Given the description of an element on the screen output the (x, y) to click on. 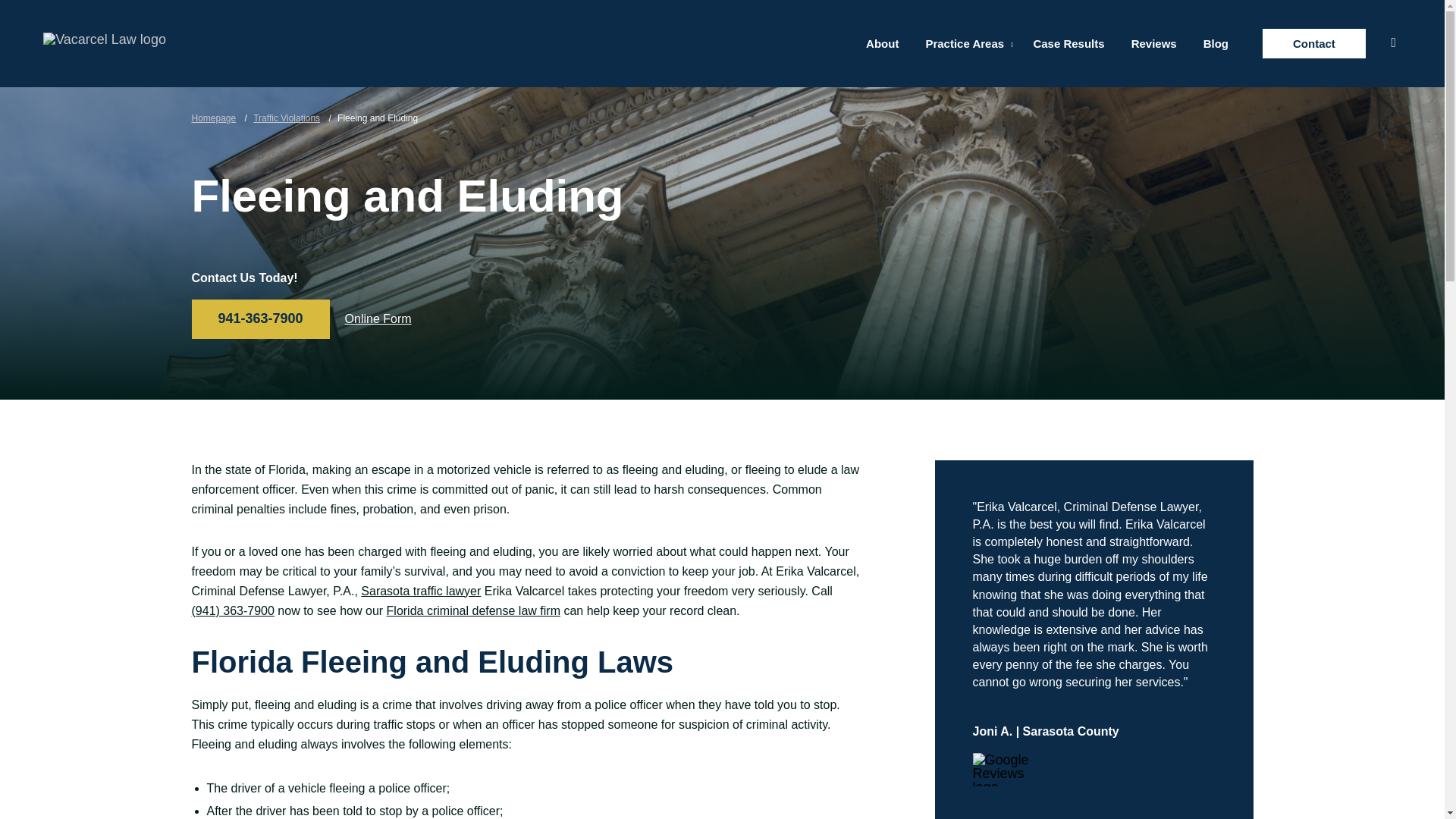
Online Form (378, 318)
Skip to Main Content (63, 7)
Practice Areas (964, 43)
Contact (1313, 43)
Homepage (212, 118)
Sarasota Traffic Lawyer (420, 590)
941-363-7900 (259, 319)
Reviews (1153, 43)
Call Valcarcel Today (231, 610)
Sarasota traffic lawyer (420, 590)
